Given the description of an element on the screen output the (x, y) to click on. 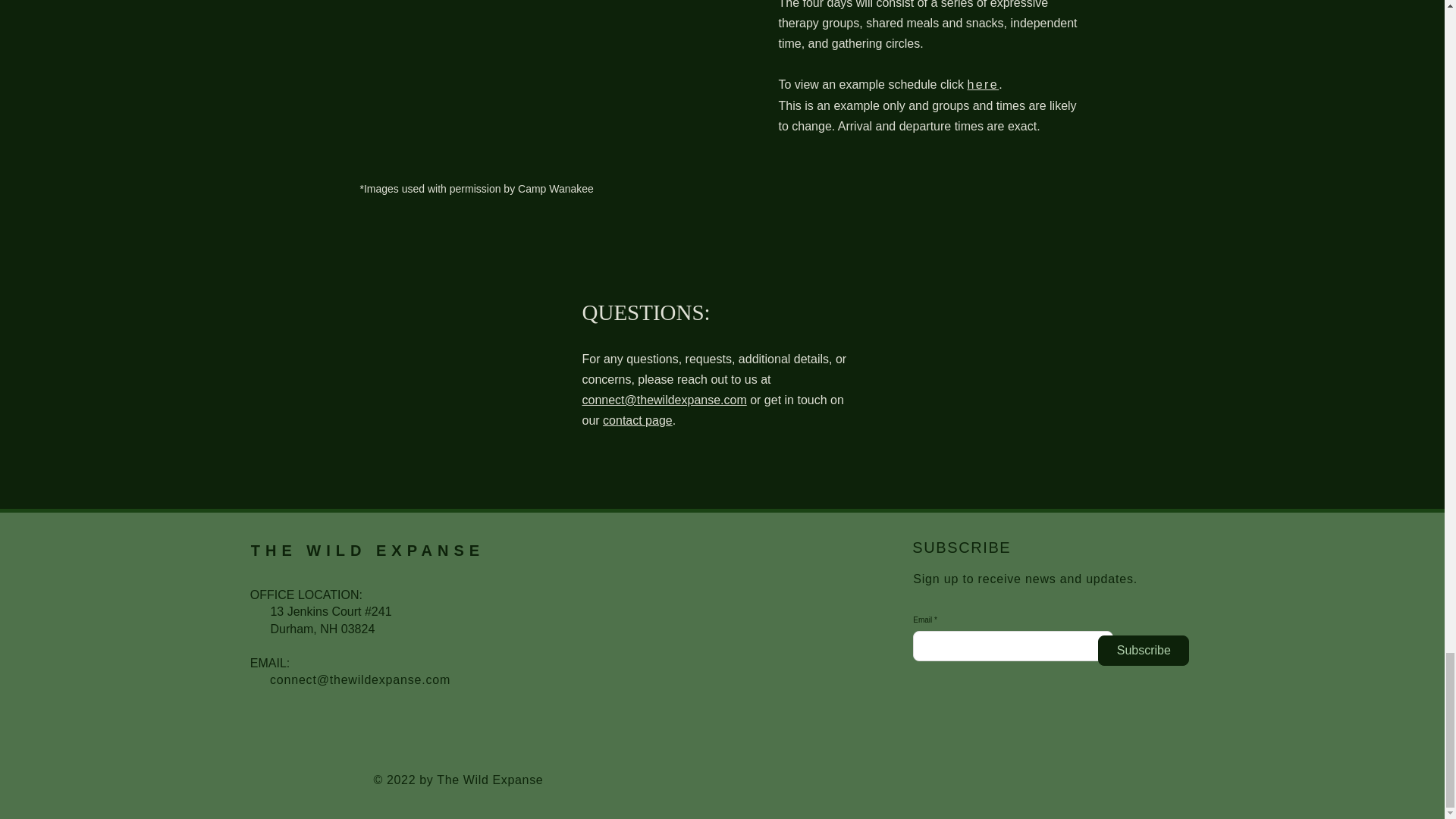
contact page (637, 420)
Subscribe (1143, 650)
here (983, 83)
THE WILD EXPANSE (367, 550)
